Given the description of an element on the screen output the (x, y) to click on. 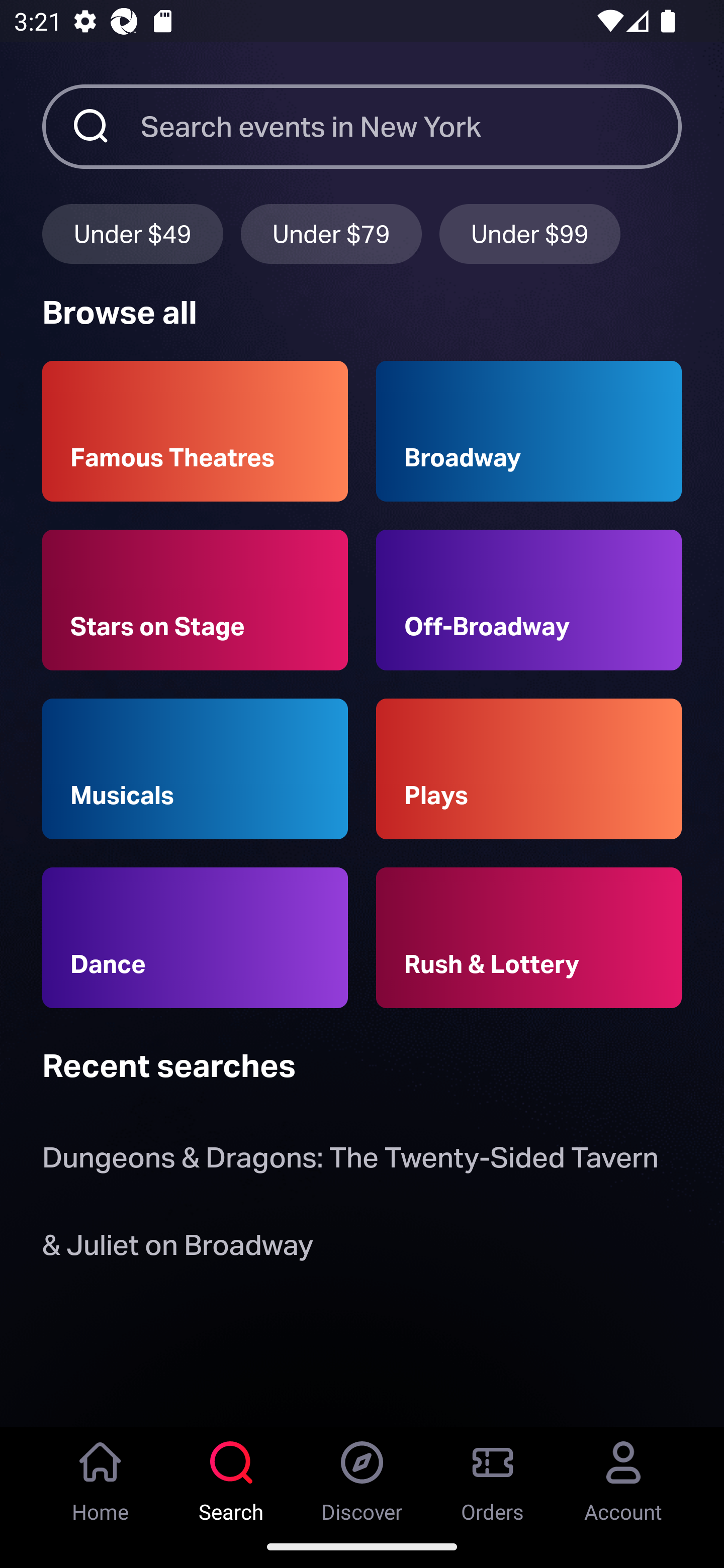
Search events in New York (411, 126)
Under $49 (131, 233)
Under $79 (331, 233)
Under $99 (529, 233)
Famous Theatres (194, 430)
Broadway (528, 430)
Stars on Stage (194, 600)
Off-Broadway (528, 600)
Musicals (194, 768)
Plays (528, 768)
Dance (194, 937)
Rush & Lottery (528, 937)
Dungeons & Dragons: The Twenty-Sided Tavern (349, 1161)
& Juliet on Broadway  (180, 1248)
Home (100, 1475)
Discover (361, 1475)
Orders (492, 1475)
Account (623, 1475)
